Given the description of an element on the screen output the (x, y) to click on. 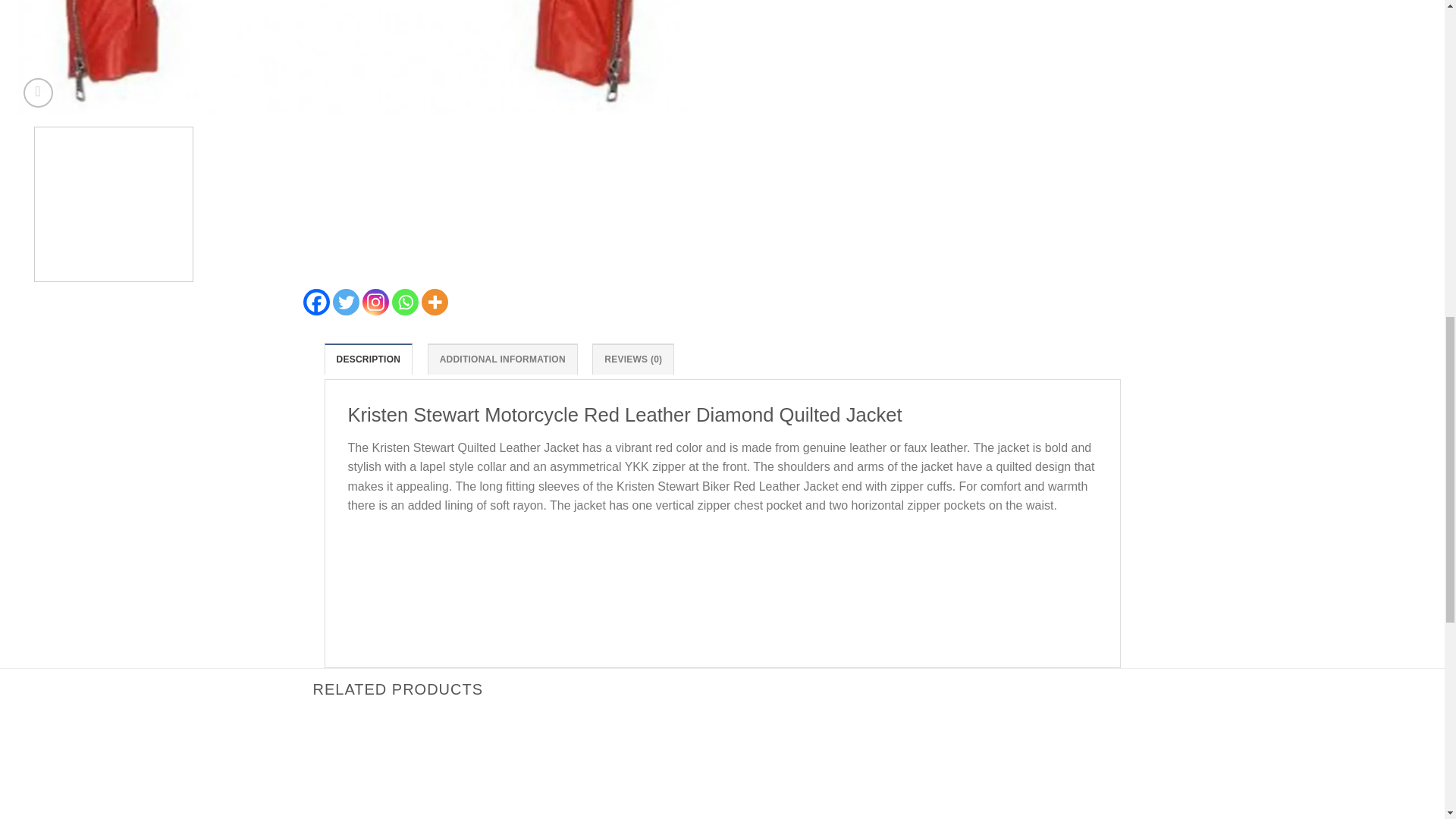
Zoom (37, 92)
kristen-stewart-red-leather-jacket (362, 57)
biker-red-leather-jacket (1060, 57)
